Given the description of an element on the screen output the (x, y) to click on. 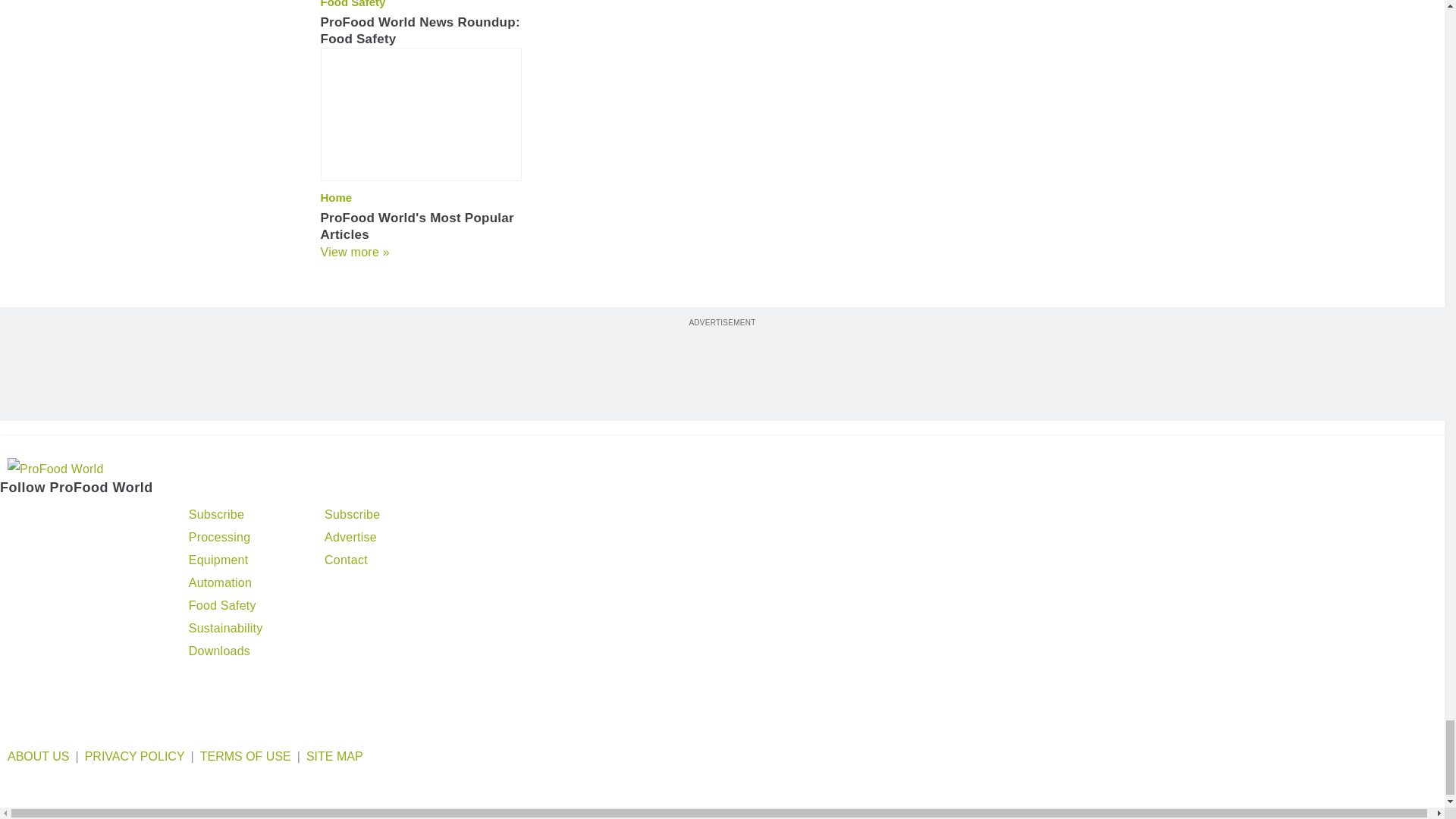
YouTube icon (133, 516)
LinkedIn icon (94, 516)
Facebook icon (55, 516)
Twitter X icon (13, 516)
